Given the description of an element on the screen output the (x, y) to click on. 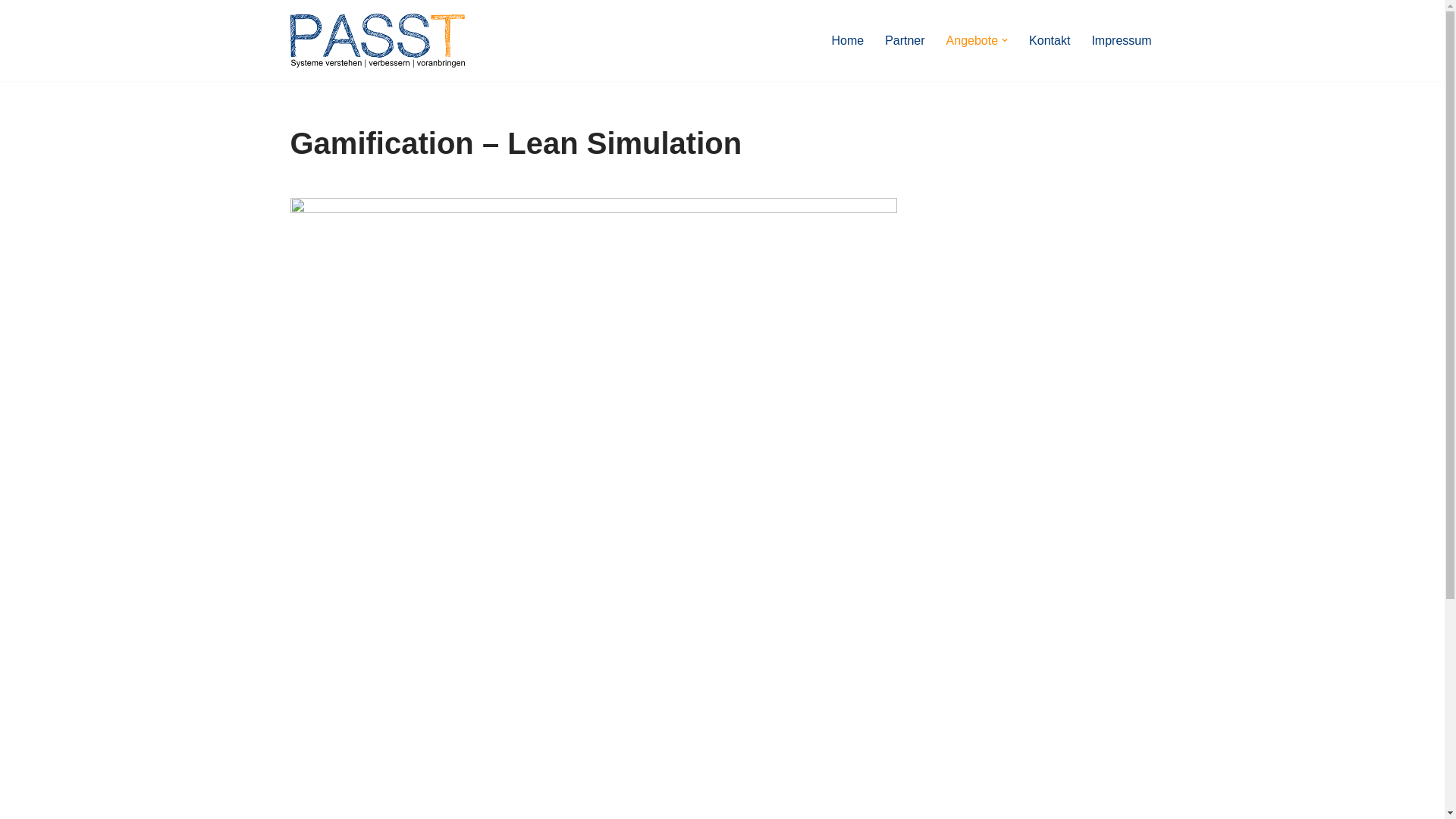
Zum Inhalt Element type: text (11, 31)
Partner Element type: text (904, 39)
Kontakt Element type: text (1049, 39)
Angebote Element type: text (972, 39)
Home Element type: text (847, 39)
Impressum Element type: text (1121, 39)
